Given the description of an element on the screen output the (x, y) to click on. 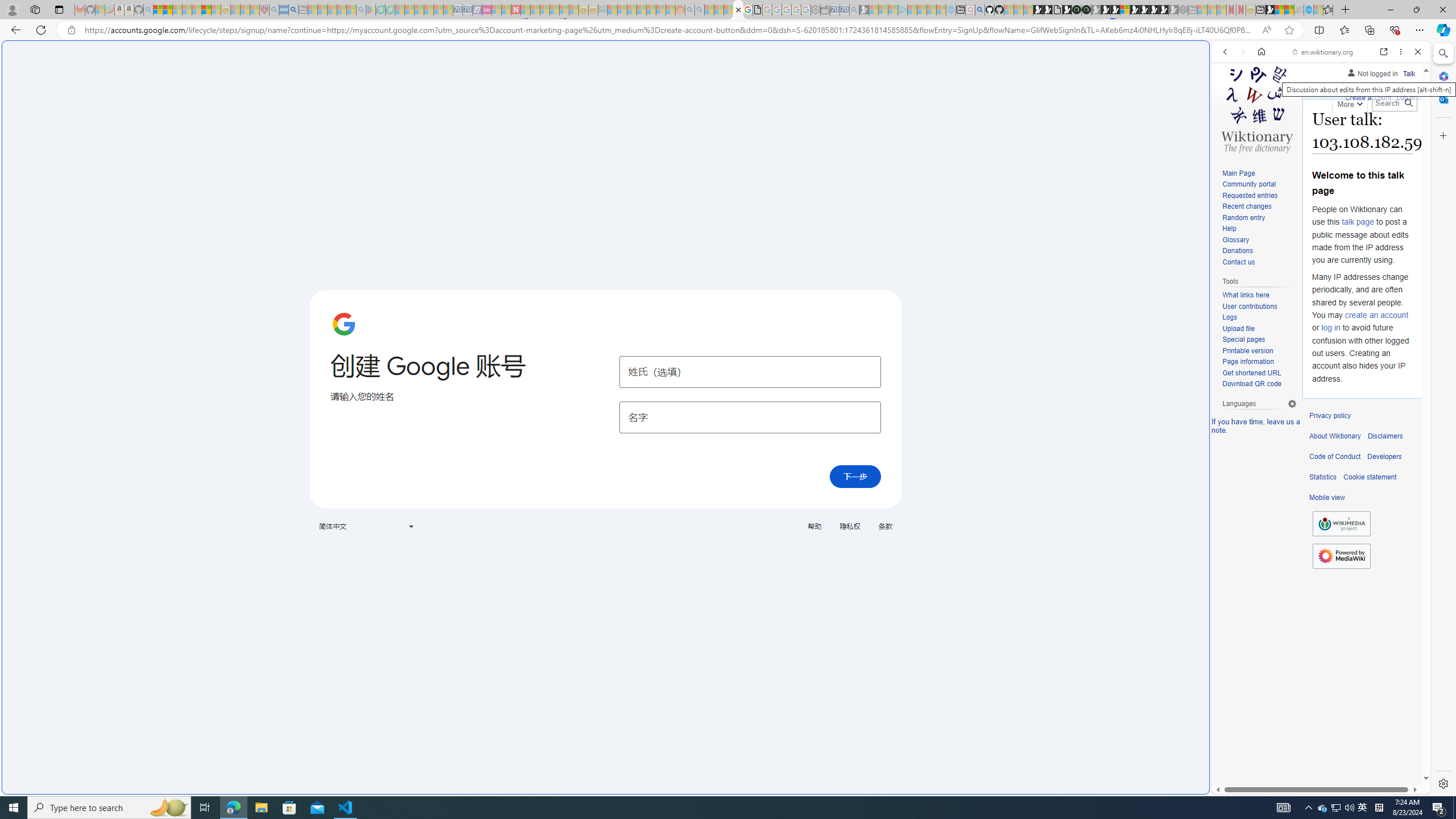
Cookie statement (1369, 477)
User contributions (1259, 306)
User page (1324, 87)
Play Zoo Boom in your browser | Games from Microsoft Start (1047, 9)
